Given the description of an element on the screen output the (x, y) to click on. 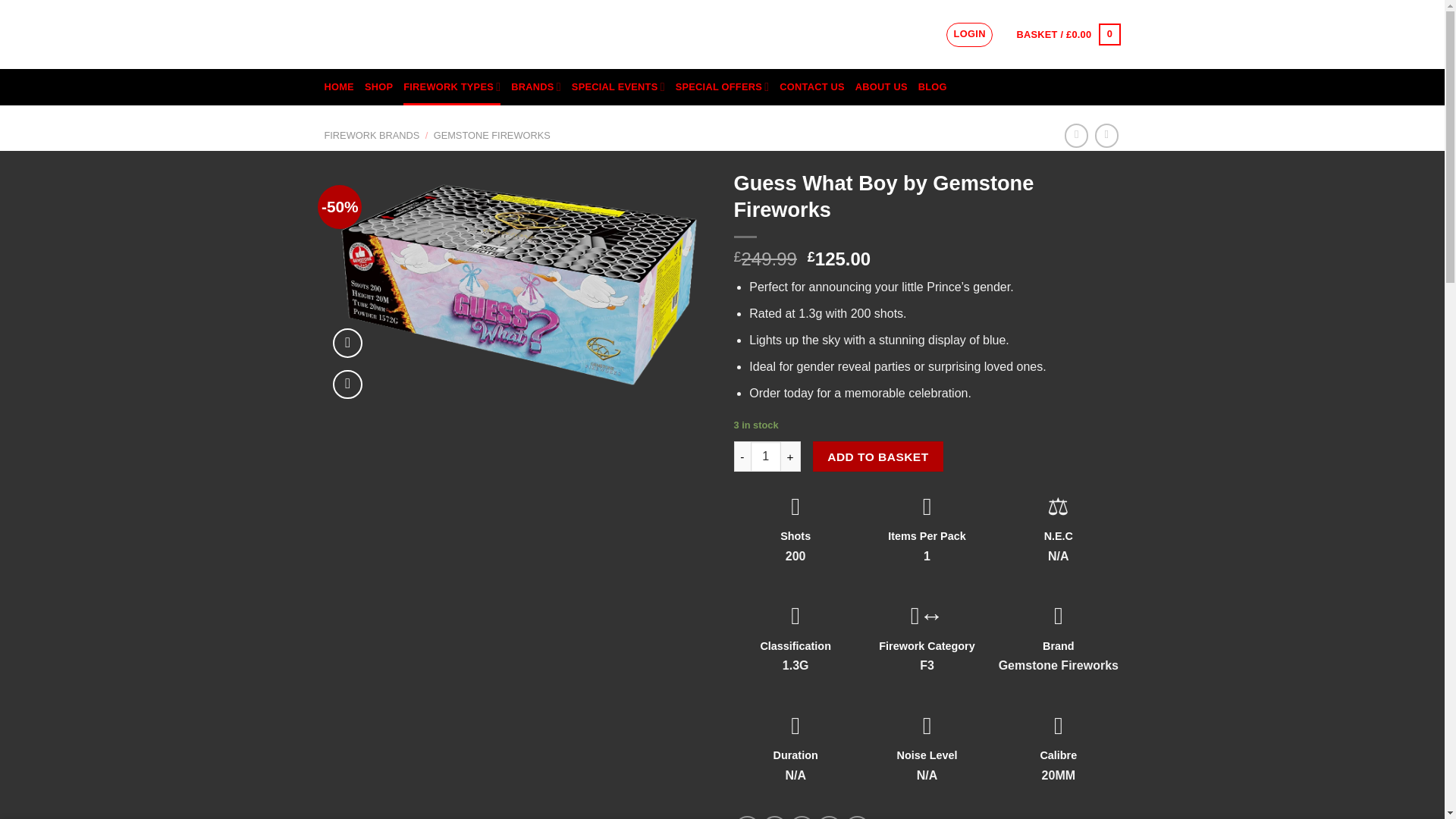
FIREWORK TYPES (451, 86)
Basket (1067, 34)
SPECIAL EVENTS (618, 86)
Share on Facebook (747, 817)
LOGIN (968, 34)
Guess What Boy by Gemstone Fireworks 3 (517, 282)
Search (917, 34)
BRANDS (535, 86)
1 (765, 456)
Login (968, 34)
